Given the description of an element on the screen output the (x, y) to click on. 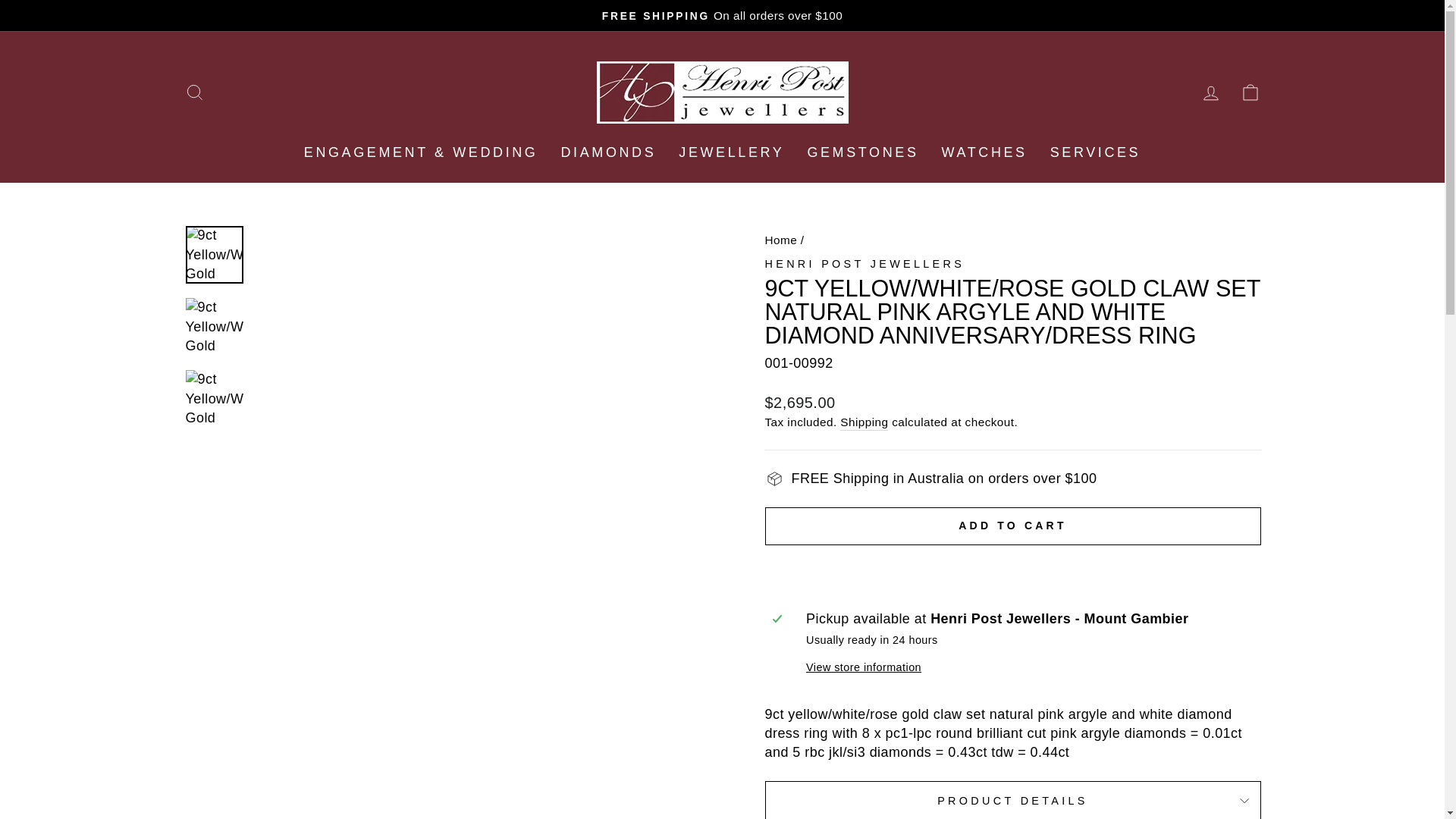
Back to the frontpage (780, 239)
Henri Post Jewellers (863, 263)
